Given the description of an element on the screen output the (x, y) to click on. 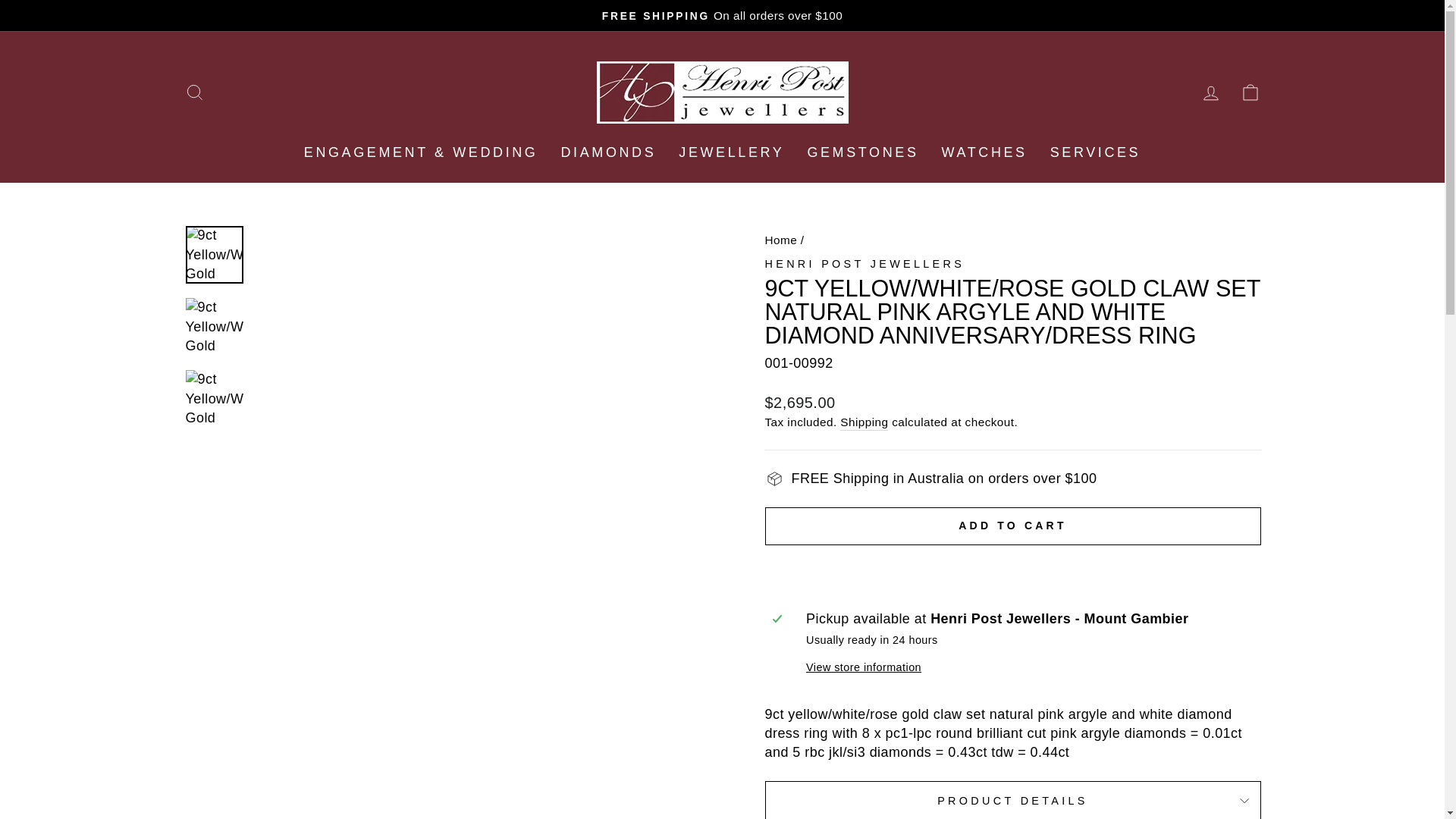
Back to the frontpage (780, 239)
Henri Post Jewellers (863, 263)
